Given the description of an element on the screen output the (x, y) to click on. 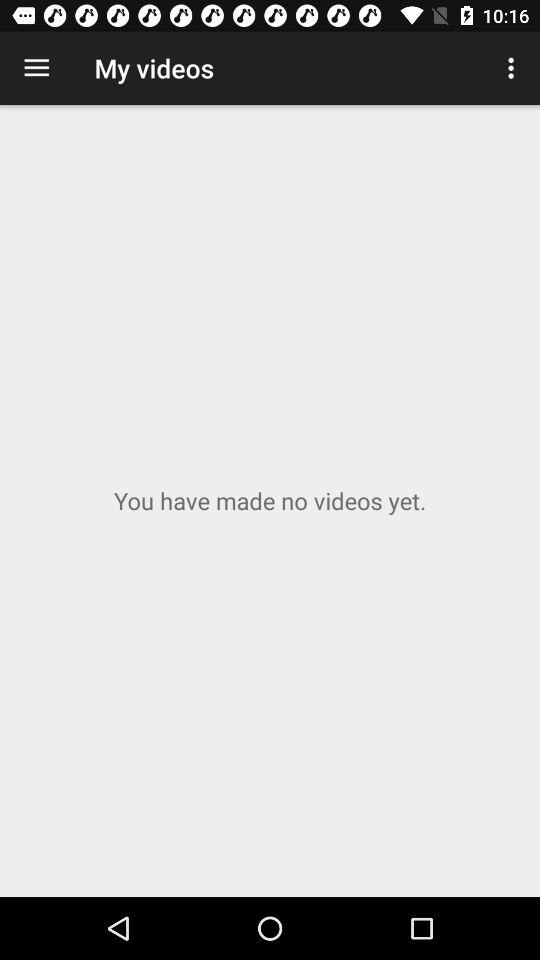
launch app to the left of my videos icon (36, 68)
